Given the description of an element on the screen output the (x, y) to click on. 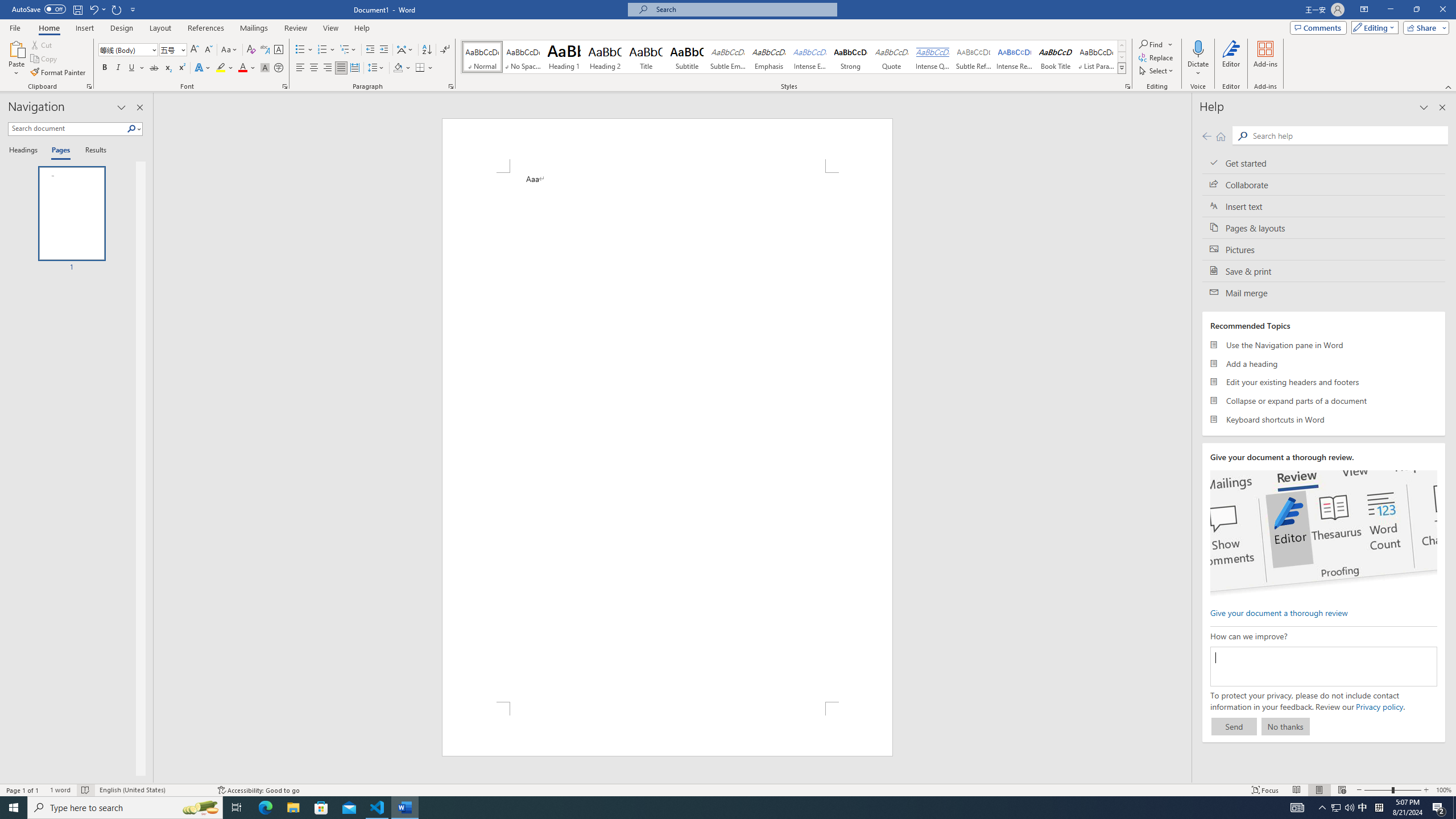
Task Pane Options (121, 107)
Paste (16, 48)
Row up (1121, 45)
How can we improve? (1323, 666)
Class: MsoCommandBar (728, 789)
Phonetic Guide... (264, 49)
Subtle Emphasis (727, 56)
Give your document a thorough review (1278, 611)
Results (91, 150)
Increase Indent (383, 49)
Replace... (1156, 56)
Paste (16, 58)
Subtitle (686, 56)
Save & print (1323, 270)
